Given the description of an element on the screen output the (x, y) to click on. 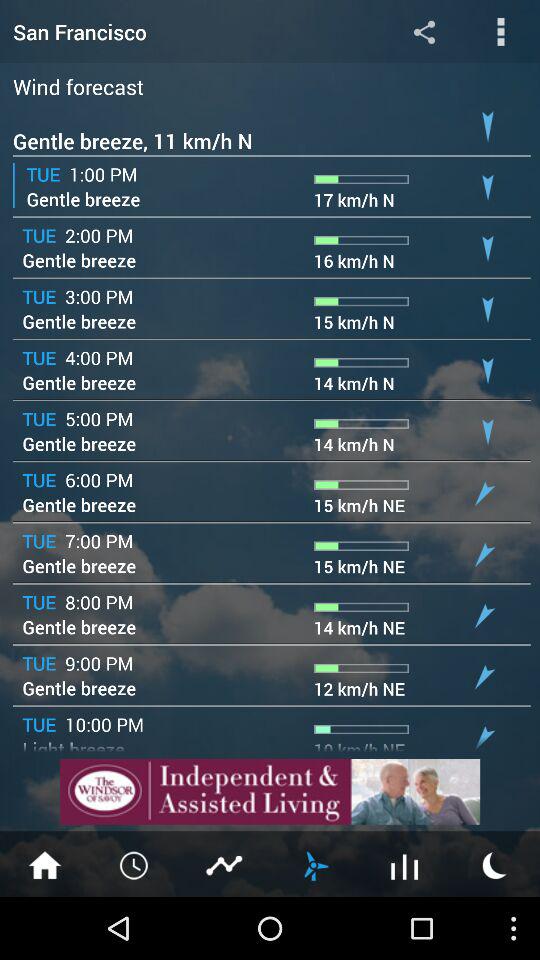
advertise a website (270, 791)
